Given the description of an element on the screen output the (x, y) to click on. 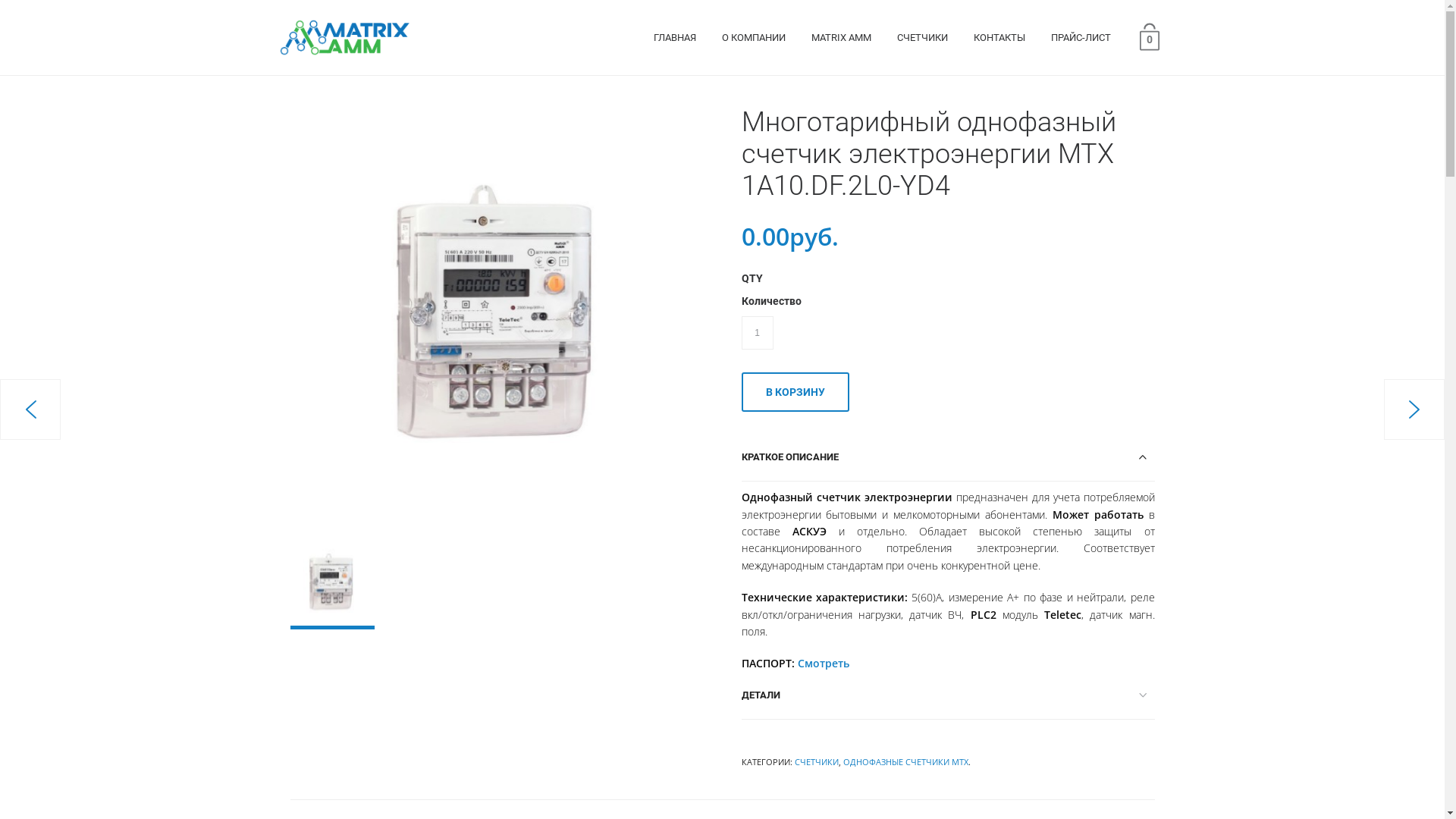
0 Element type: text (1149, 36)
MATRIX AMM Element type: text (841, 37)
MTX1 Element type: hover (499, 316)
